Given the description of an element on the screen output the (x, y) to click on. 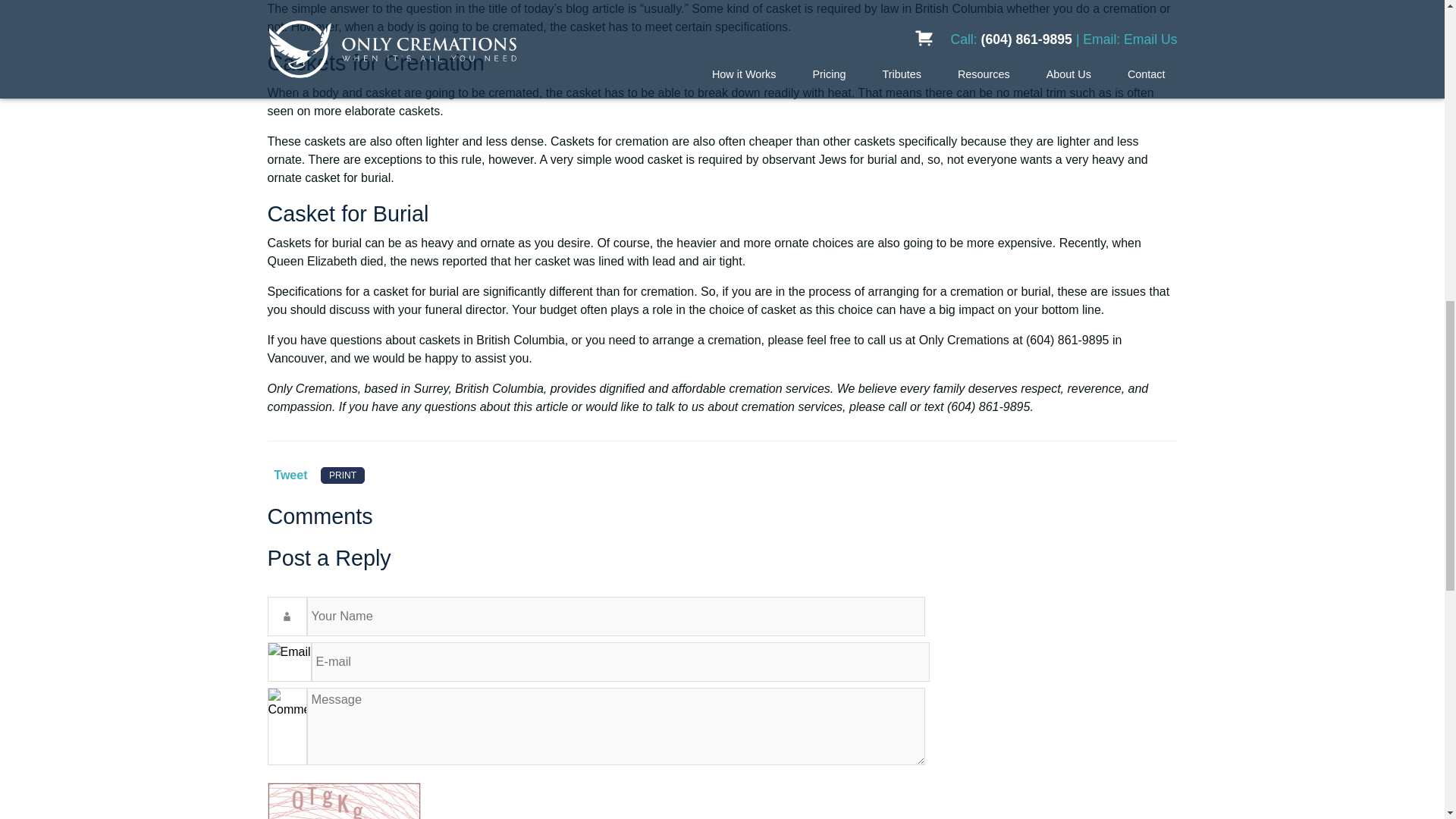
Email (620, 661)
PRINT (342, 475)
Name (614, 616)
Tweet (290, 475)
